Given the description of an element on the screen output the (x, y) to click on. 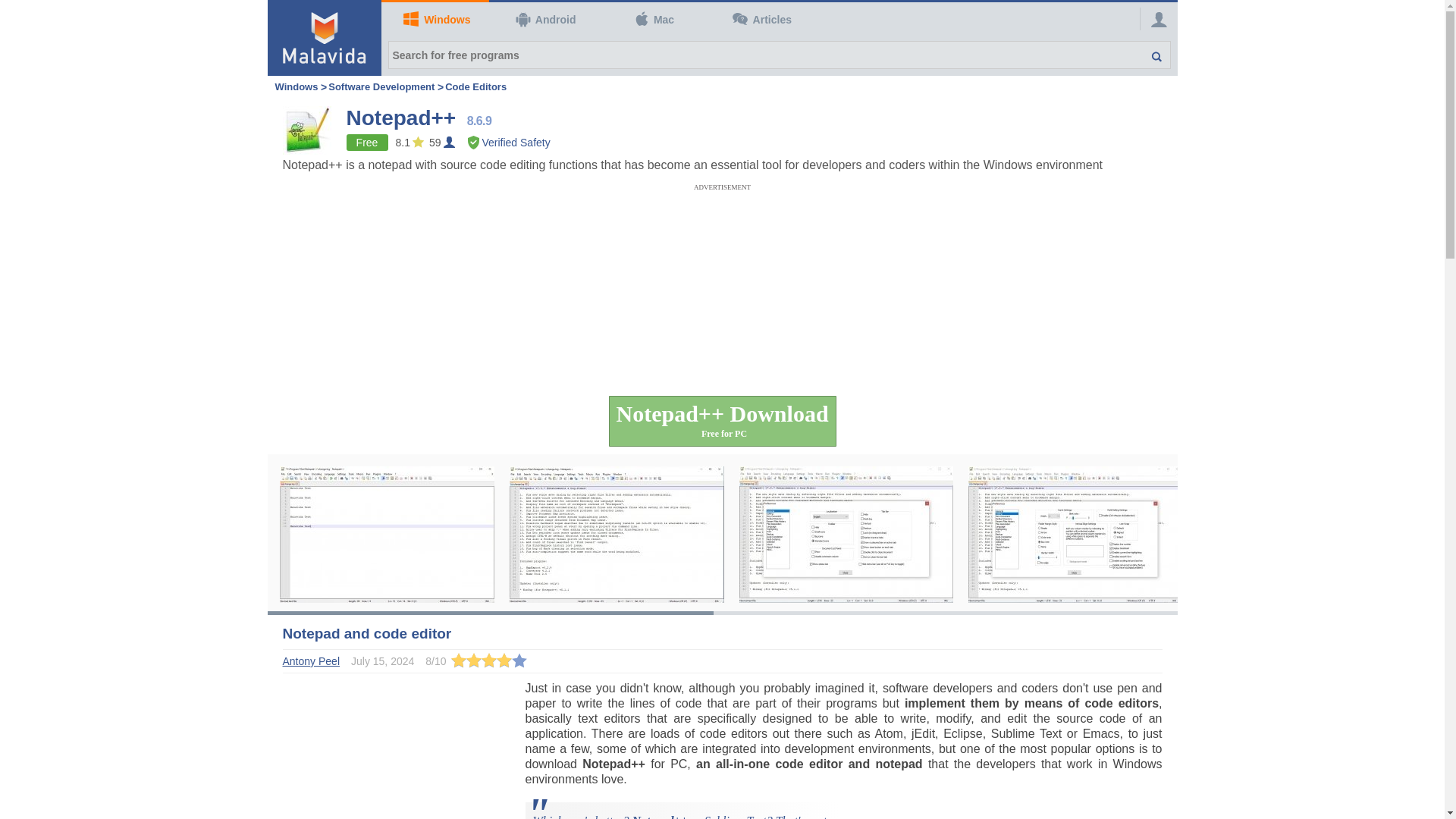
Download programs free for Windows (434, 19)
QAs (760, 19)
Windows (296, 86)
Code Editors (475, 86)
Software Development (381, 86)
Malavida Safety First (508, 142)
search (1148, 54)
search (1148, 54)
Windows (296, 86)
Articles (760, 19)
